Given the description of an element on the screen output the (x, y) to click on. 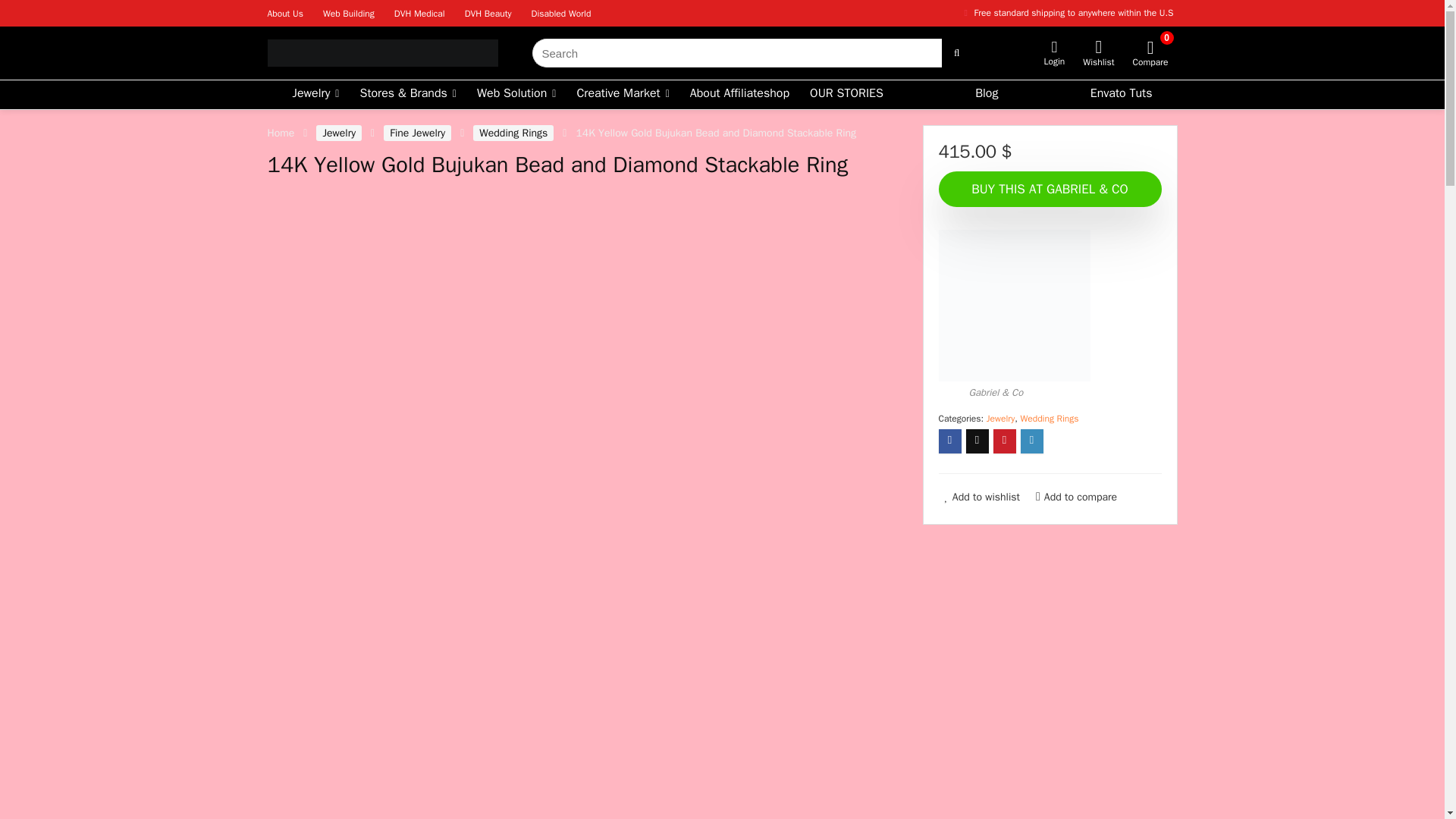
DVH Medical (419, 13)
DVH Beauty (488, 13)
Disabled World (561, 13)
Jewelry (315, 94)
About Us (284, 13)
Web Building (348, 13)
